Given the description of an element on the screen output the (x, y) to click on. 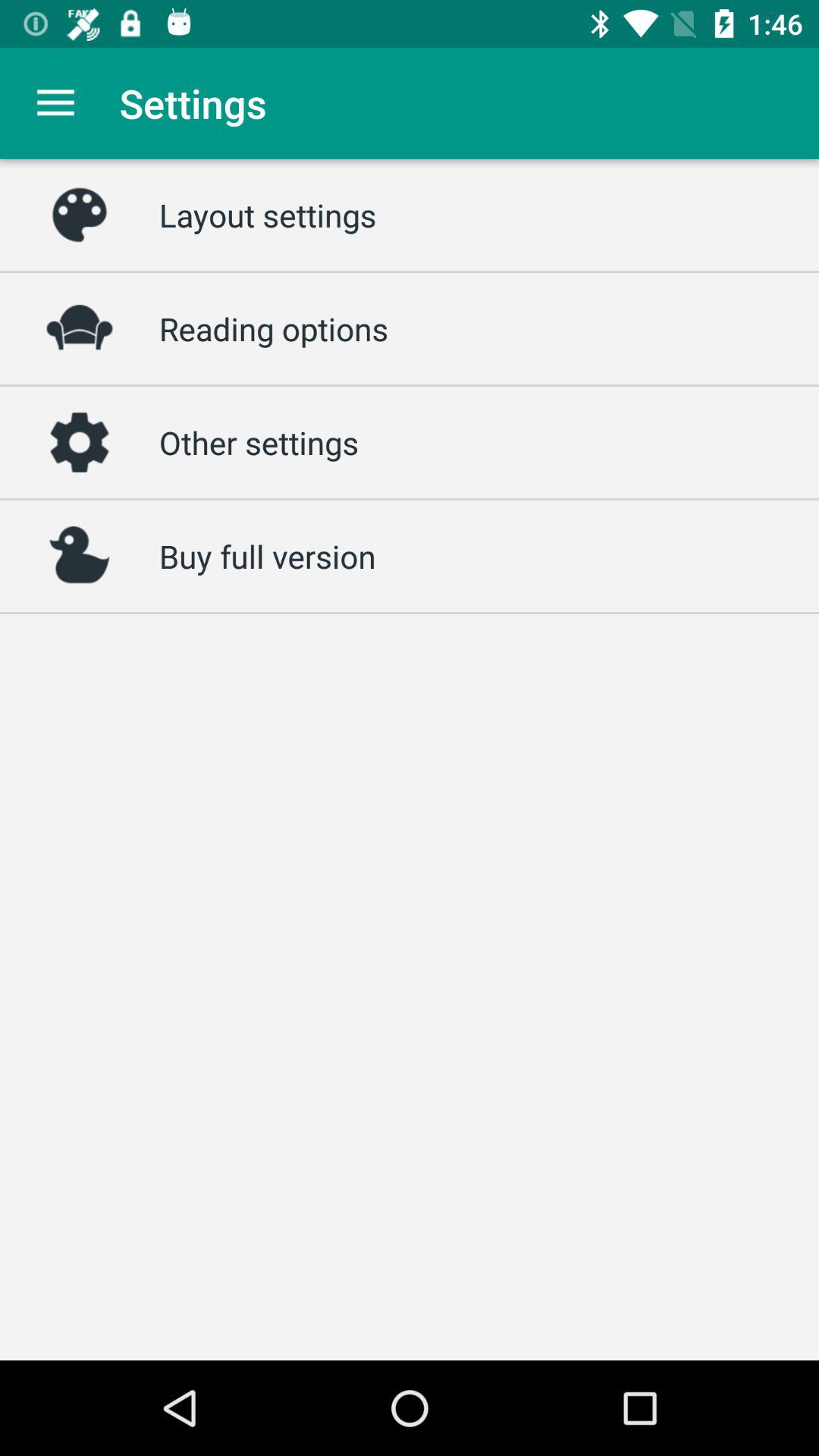
select the icon above the reading options (267, 214)
